Given the description of an element on the screen output the (x, y) to click on. 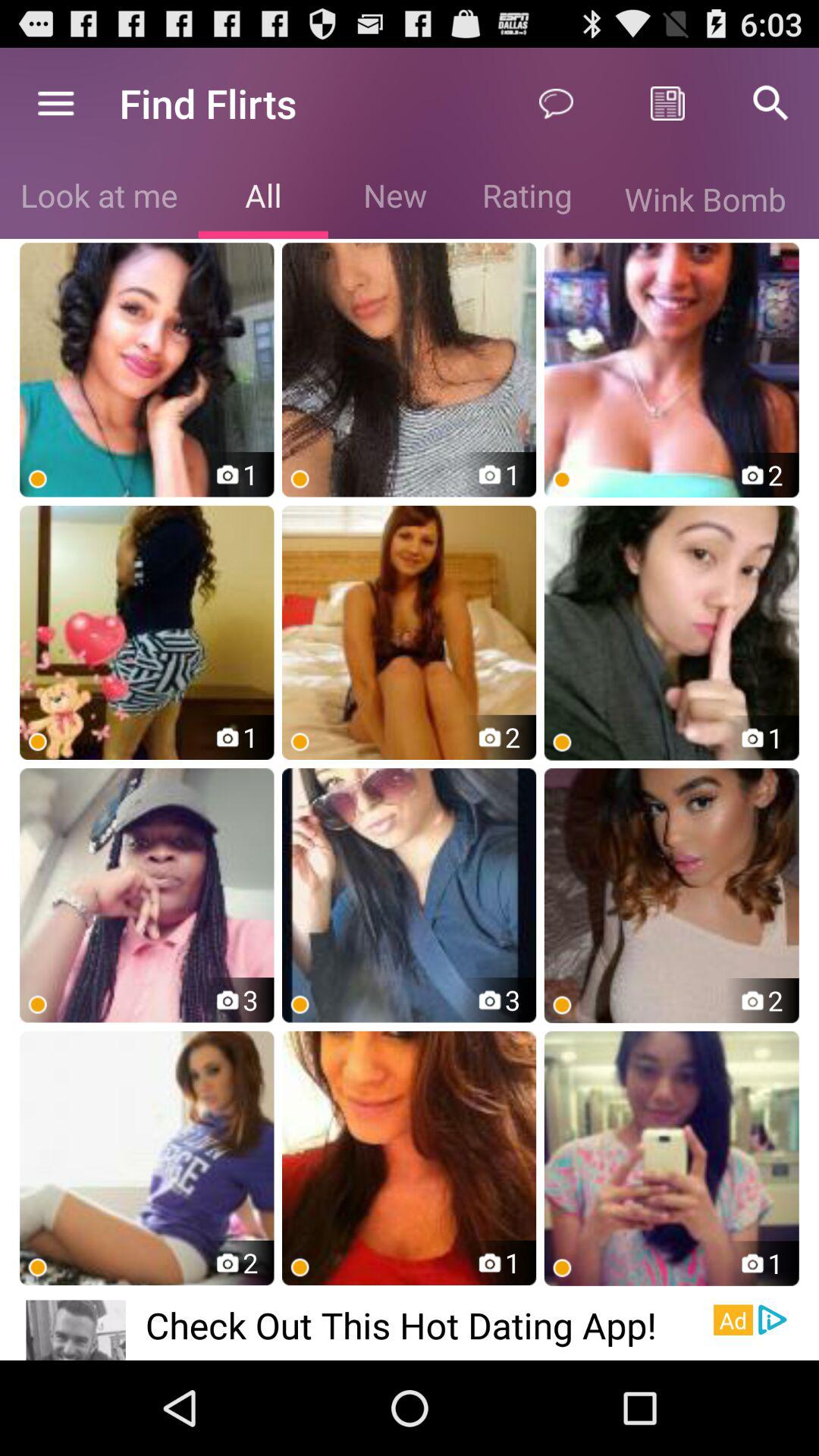
turn off the icon next to the new (263, 198)
